Given the description of an element on the screen output the (x, y) to click on. 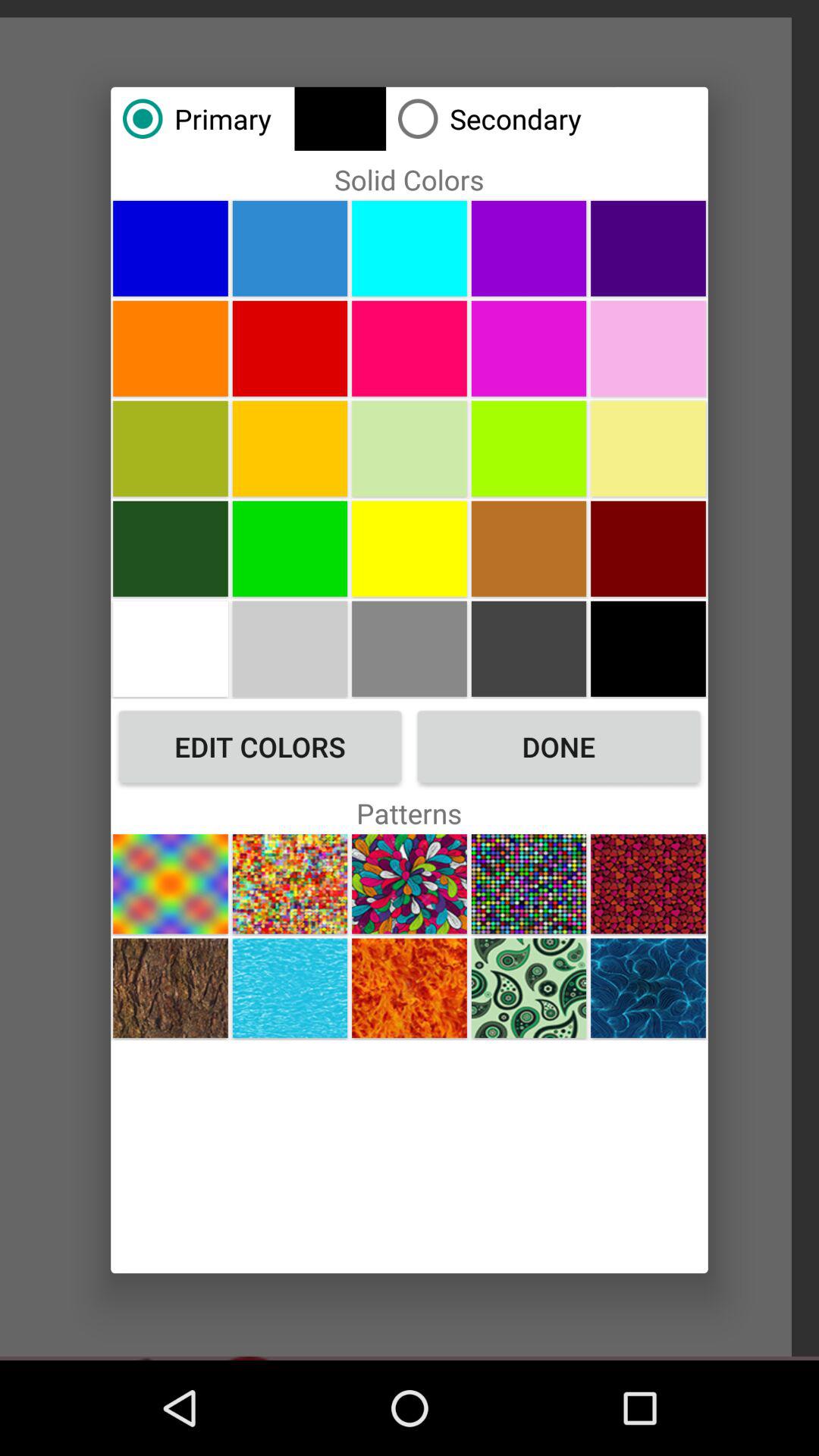
select color (647, 548)
